Given the description of an element on the screen output the (x, y) to click on. 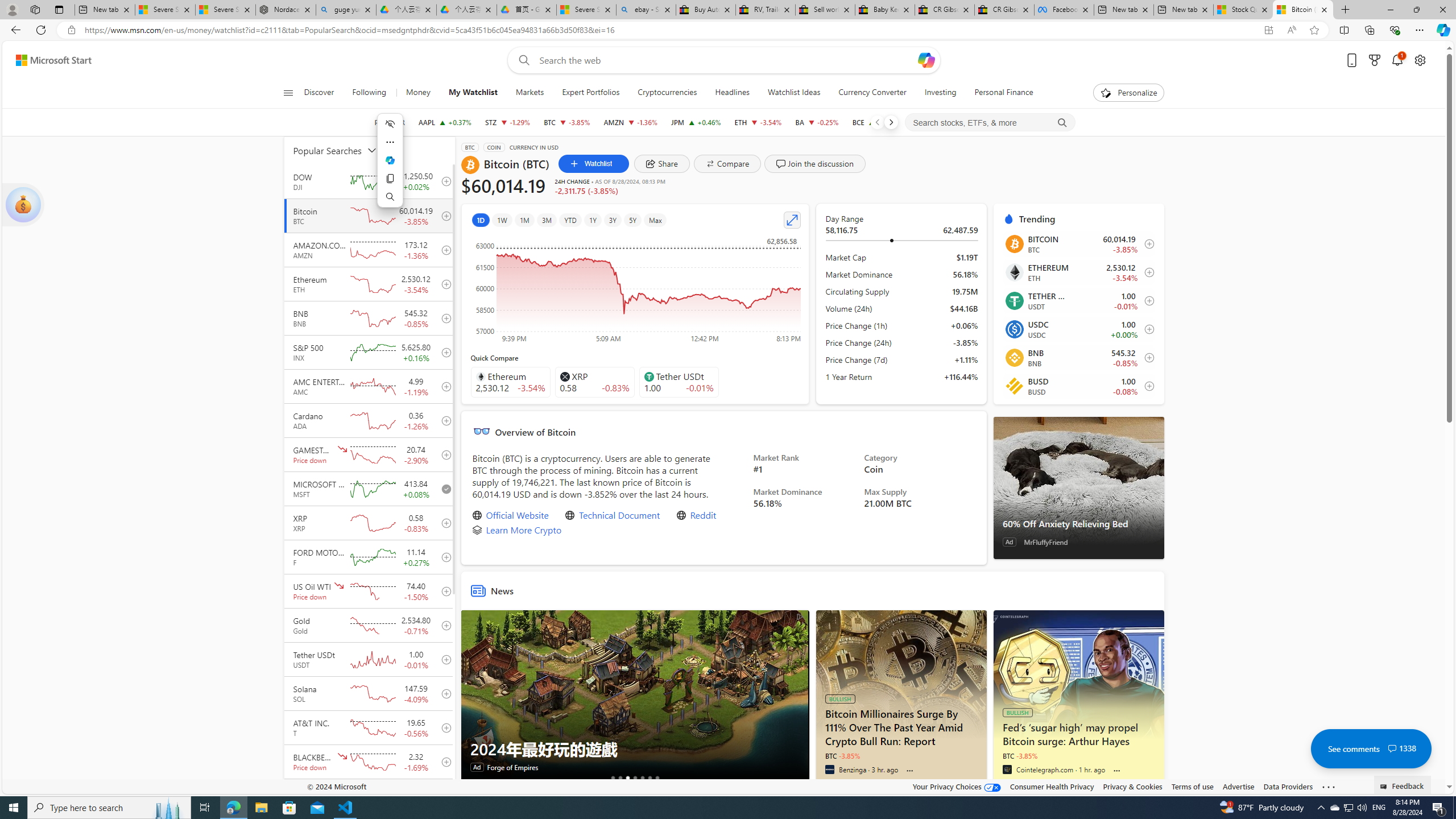
BA THE BOEING COMPANY decrease 173.05 -0.43 -0.25% (816, 122)
Markets (529, 92)
Open settings (1420, 60)
Buy Auto Parts & Accessories | eBay (706, 9)
App available. Install Start Money (1268, 29)
Data Providers (1288, 786)
